Given the description of an element on the screen output the (x, y) to click on. 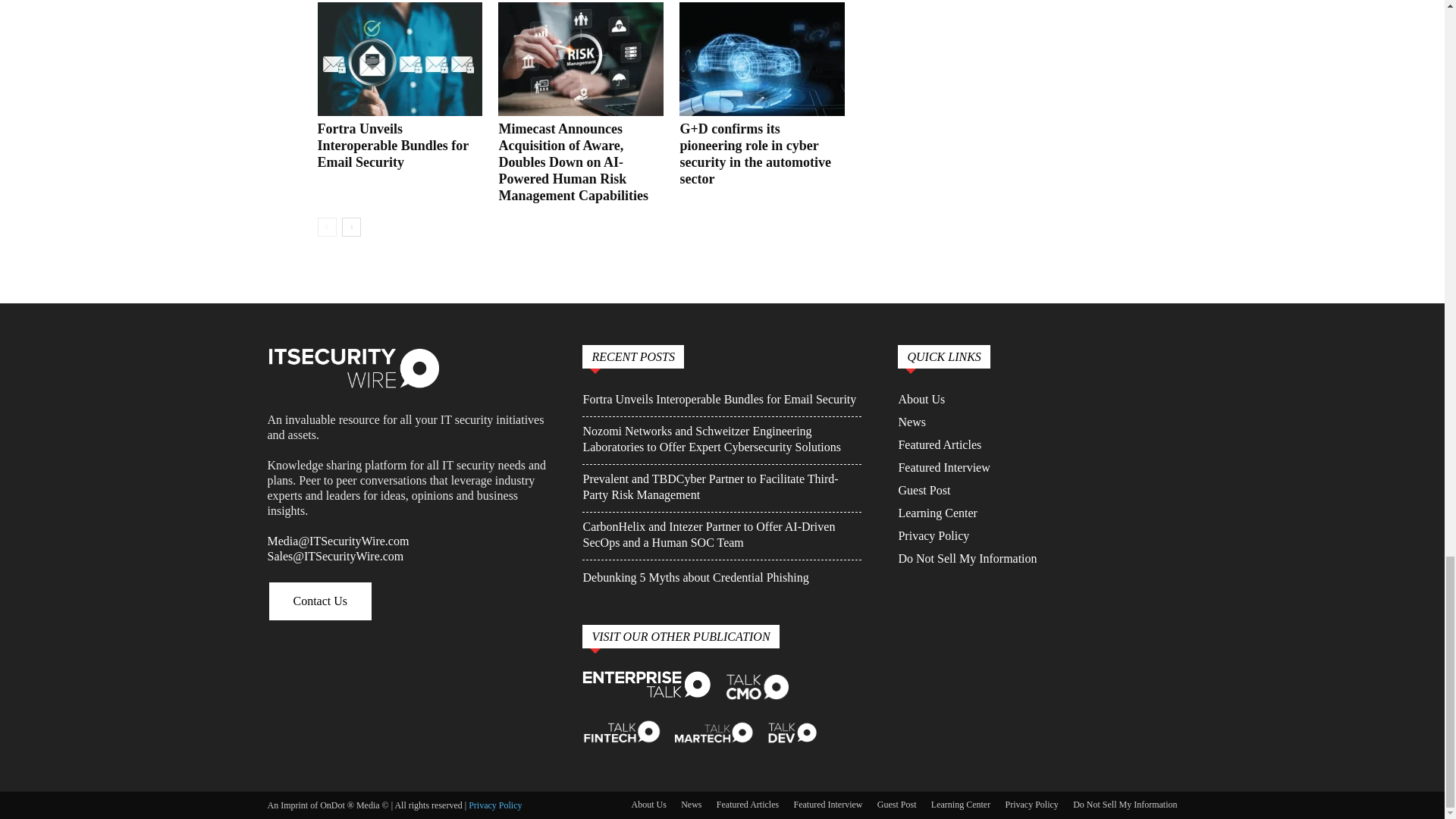
Fortra Unveils Interoperable Bundles for Email Security (399, 59)
Fortra Unveils Interoperable Bundles for Email Security (392, 145)
